Given the description of an element on the screen output the (x, y) to click on. 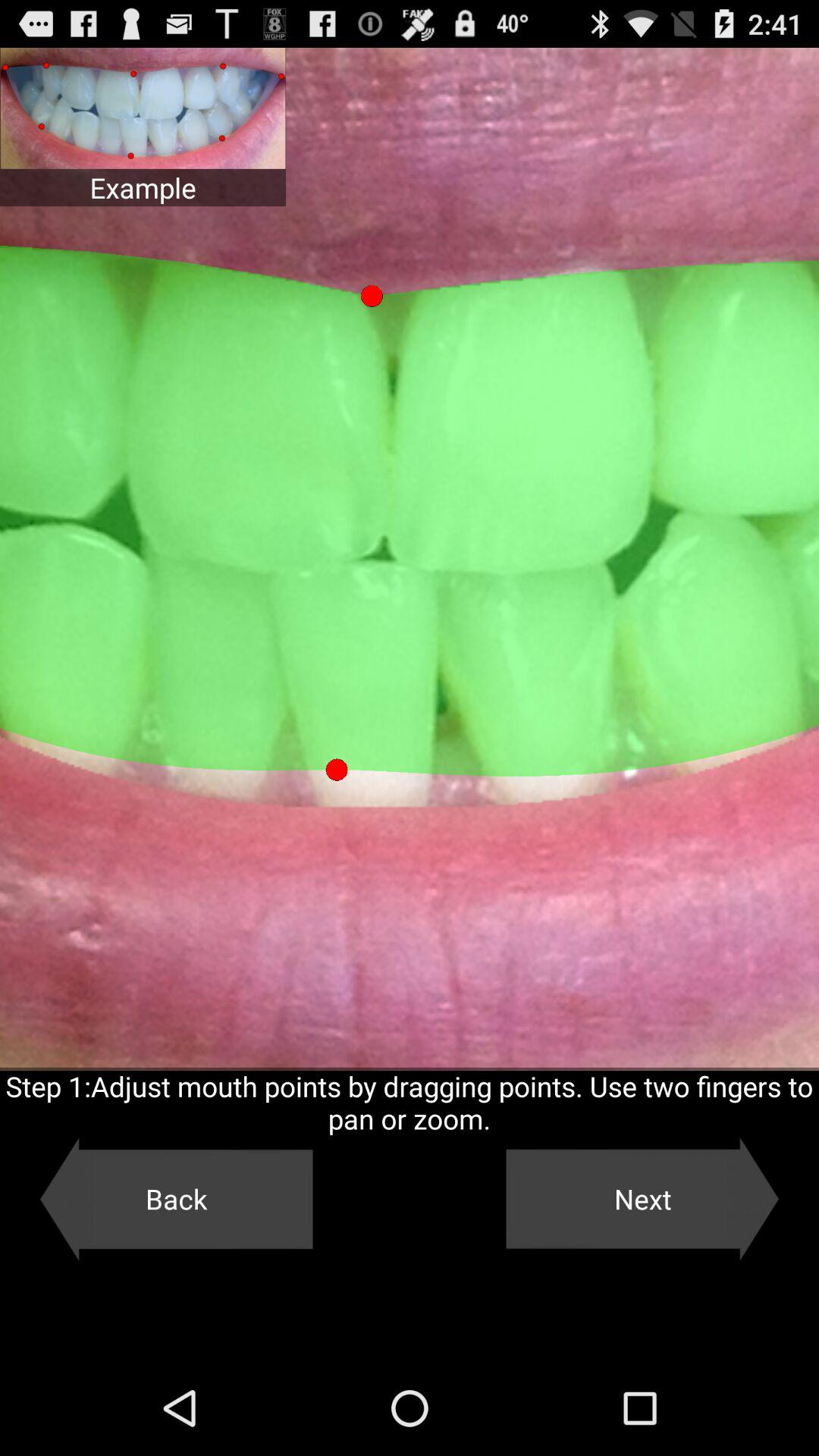
launch the back at the bottom left corner (175, 1198)
